Given the description of an element on the screen output the (x, y) to click on. 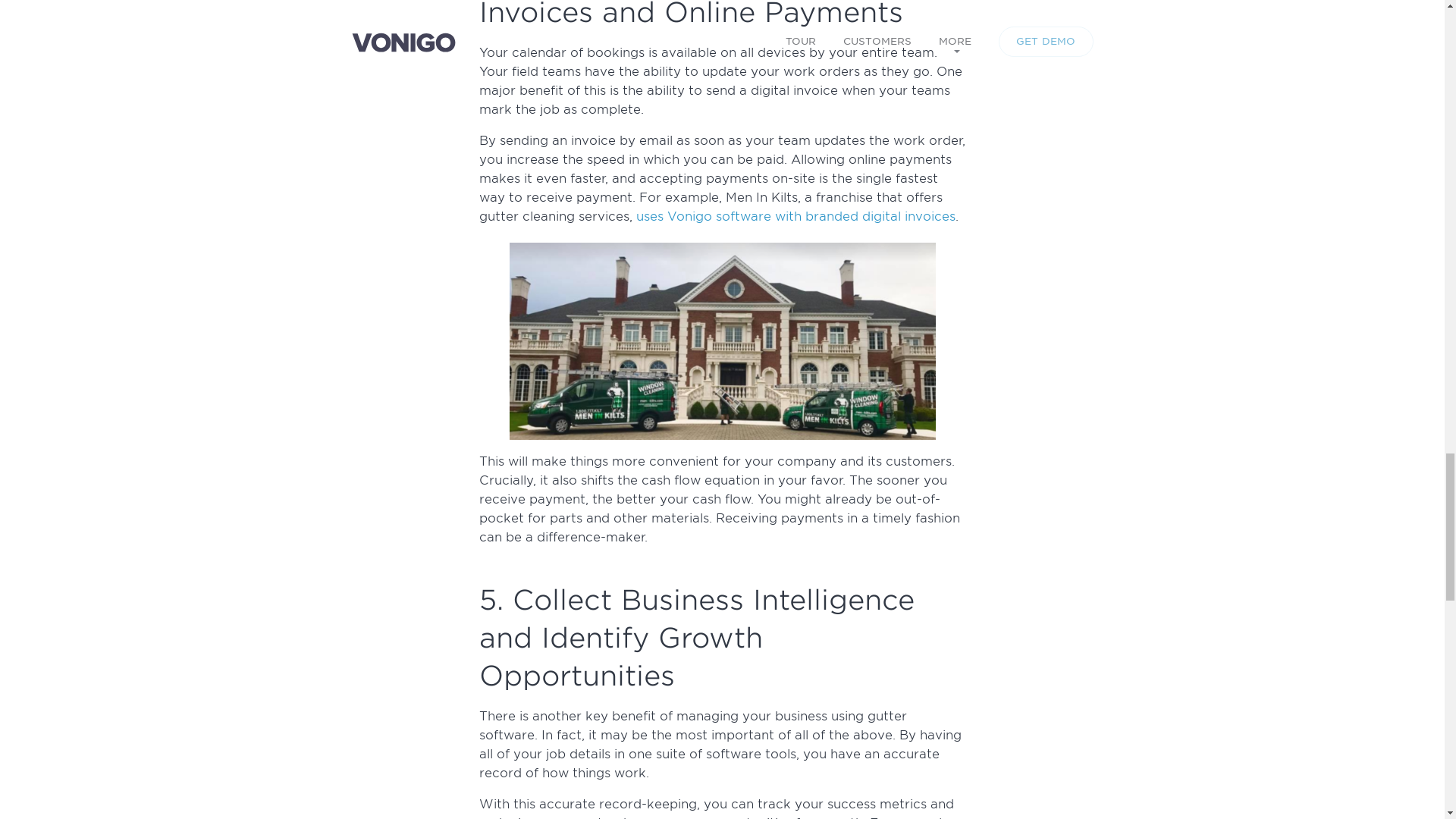
uses Vonigo software with branded digital invoices (794, 216)
